Given the description of an element on the screen output the (x, y) to click on. 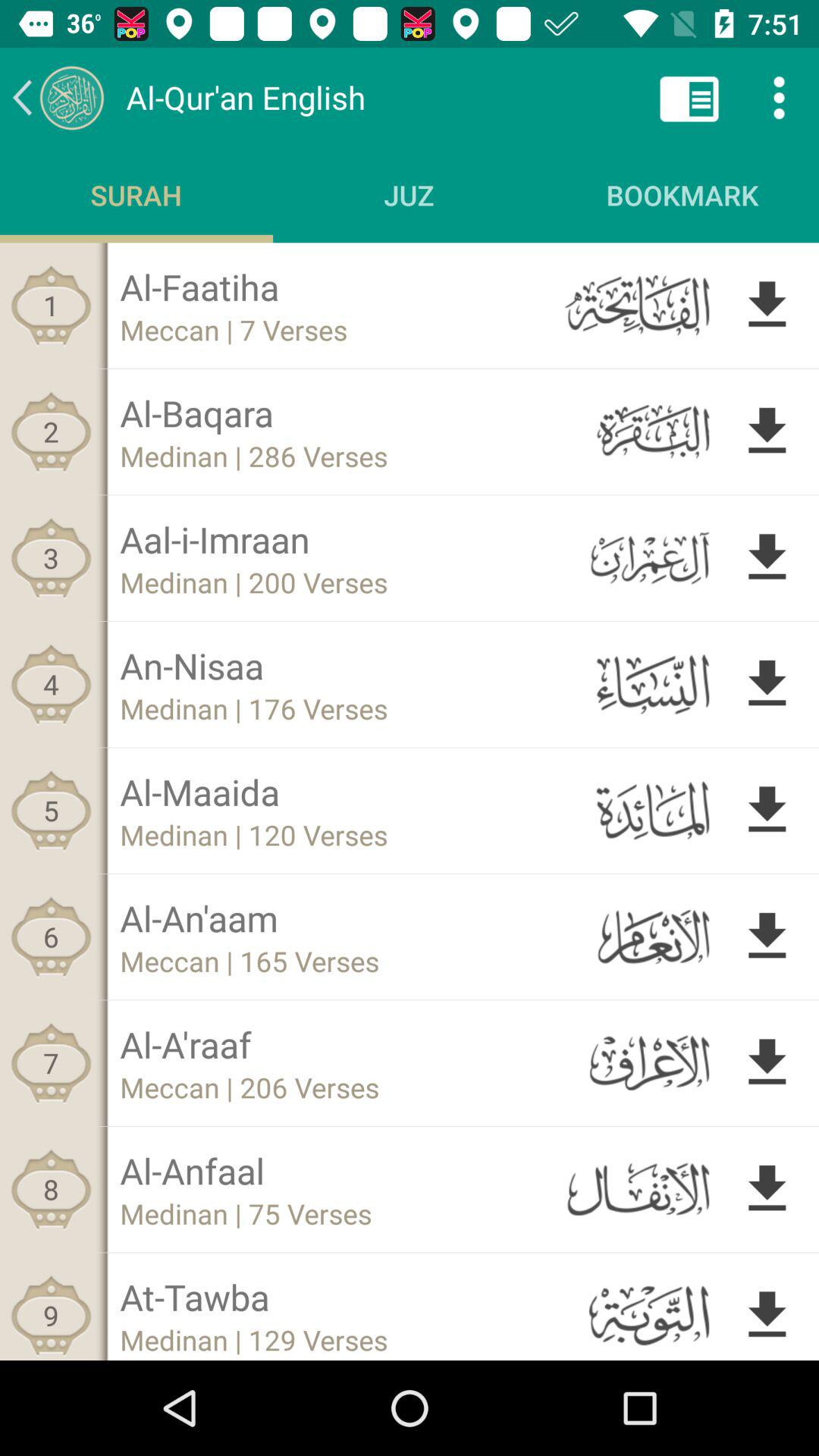
download surah 9 (767, 1311)
